Given the description of an element on the screen output the (x, y) to click on. 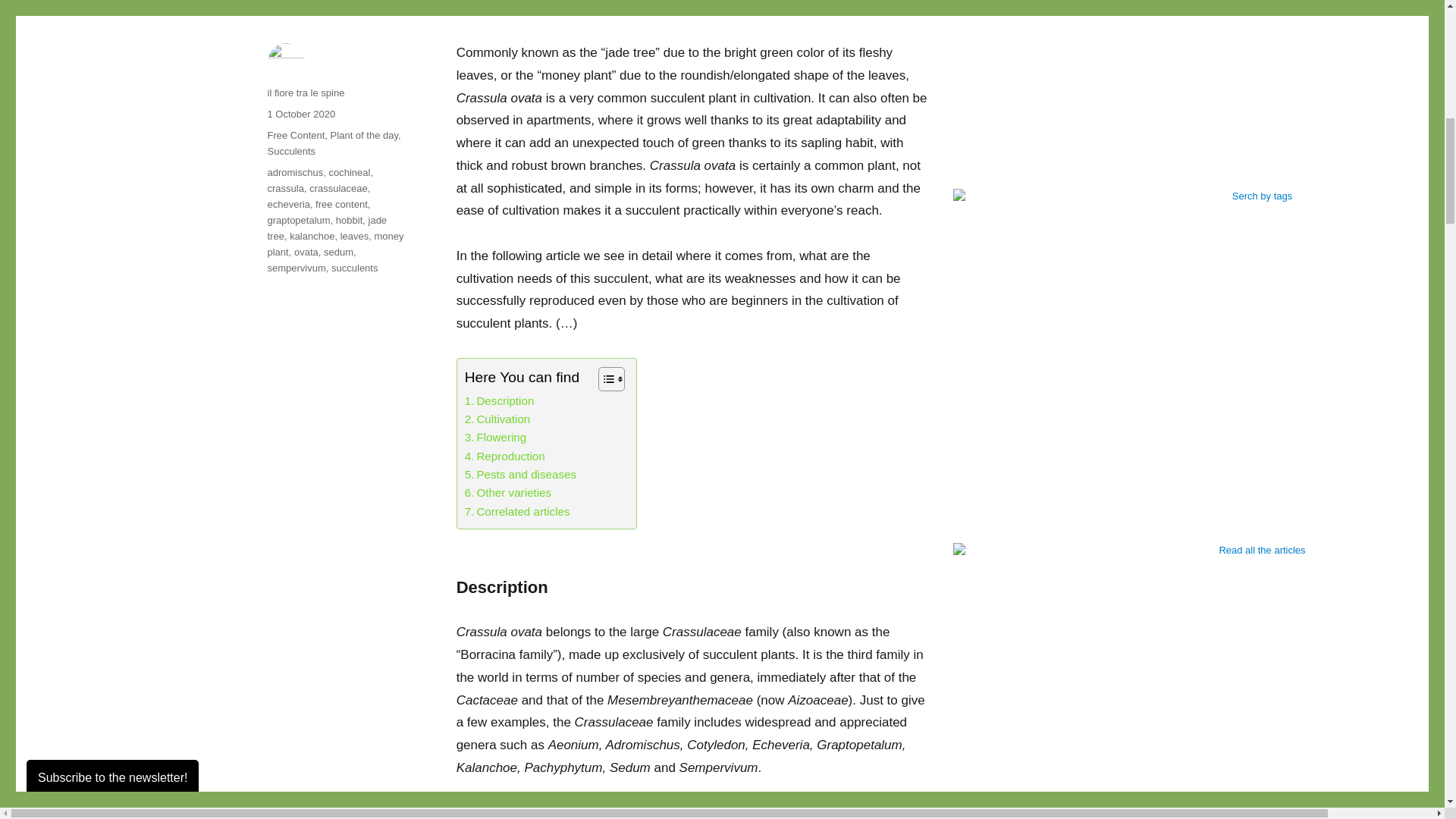
Other varieties (507, 493)
Flowering (495, 437)
Description (499, 401)
Pests and diseases (520, 475)
Correlated articles (517, 511)
Pests and diseases (520, 475)
Reproduction (504, 456)
Cultivation (497, 419)
Flowering (495, 437)
Reproduction (504, 456)
Correlated articles (517, 511)
Description (499, 401)
Understanding plant classification: a specific article (615, 812)
Cultivation (497, 419)
Other varieties (507, 493)
